Given the description of an element on the screen output the (x, y) to click on. 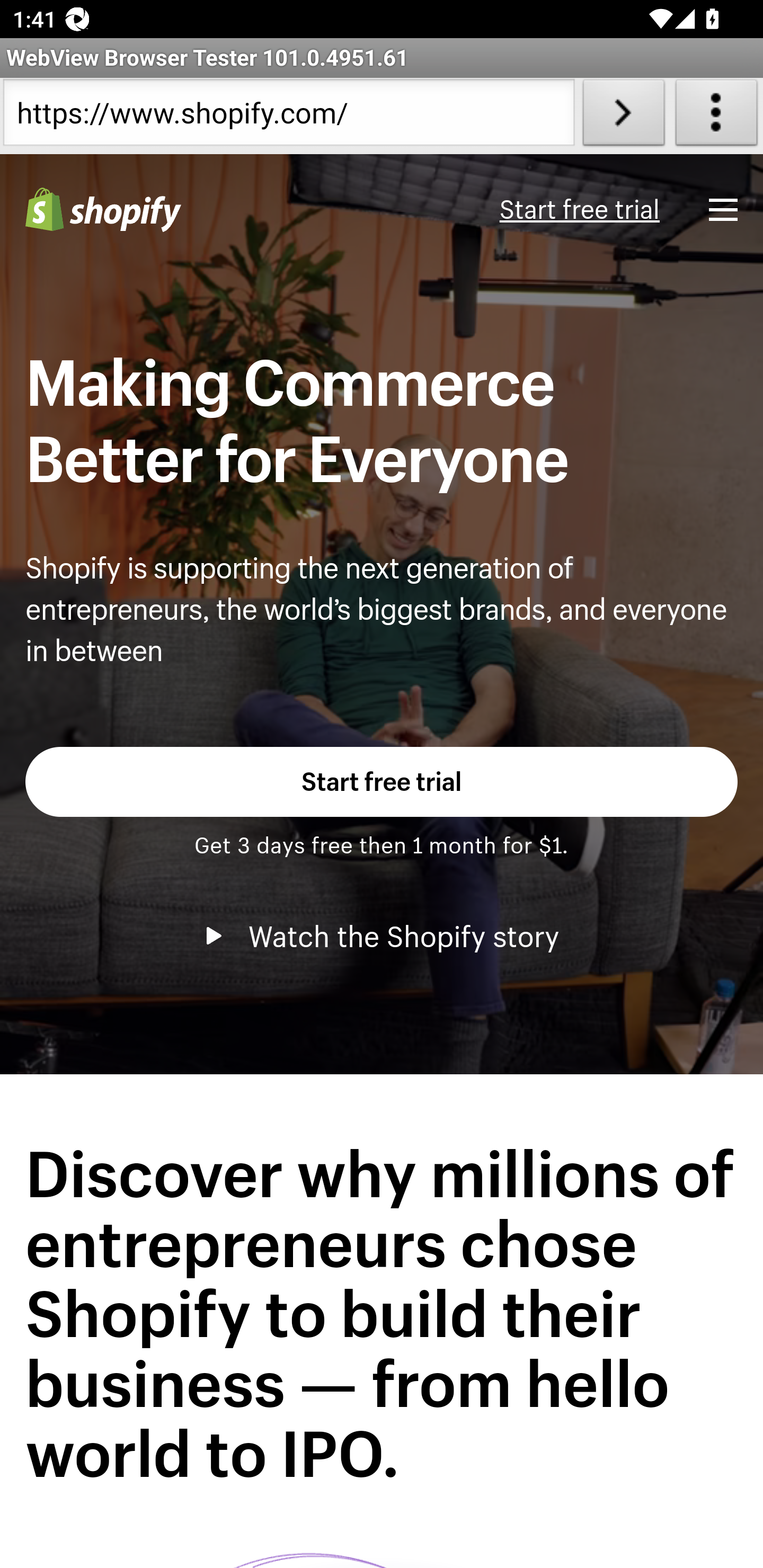
https://www.shopify.com/ (288, 115)
Load URL (623, 115)
About WebView (716, 115)
Menu (723, 208)
Shopify (103, 210)
Start free trial (579, 209)
Start free trial (381, 781)
Watch the Shopify story (381, 936)
